Given the description of an element on the screen output the (x, y) to click on. 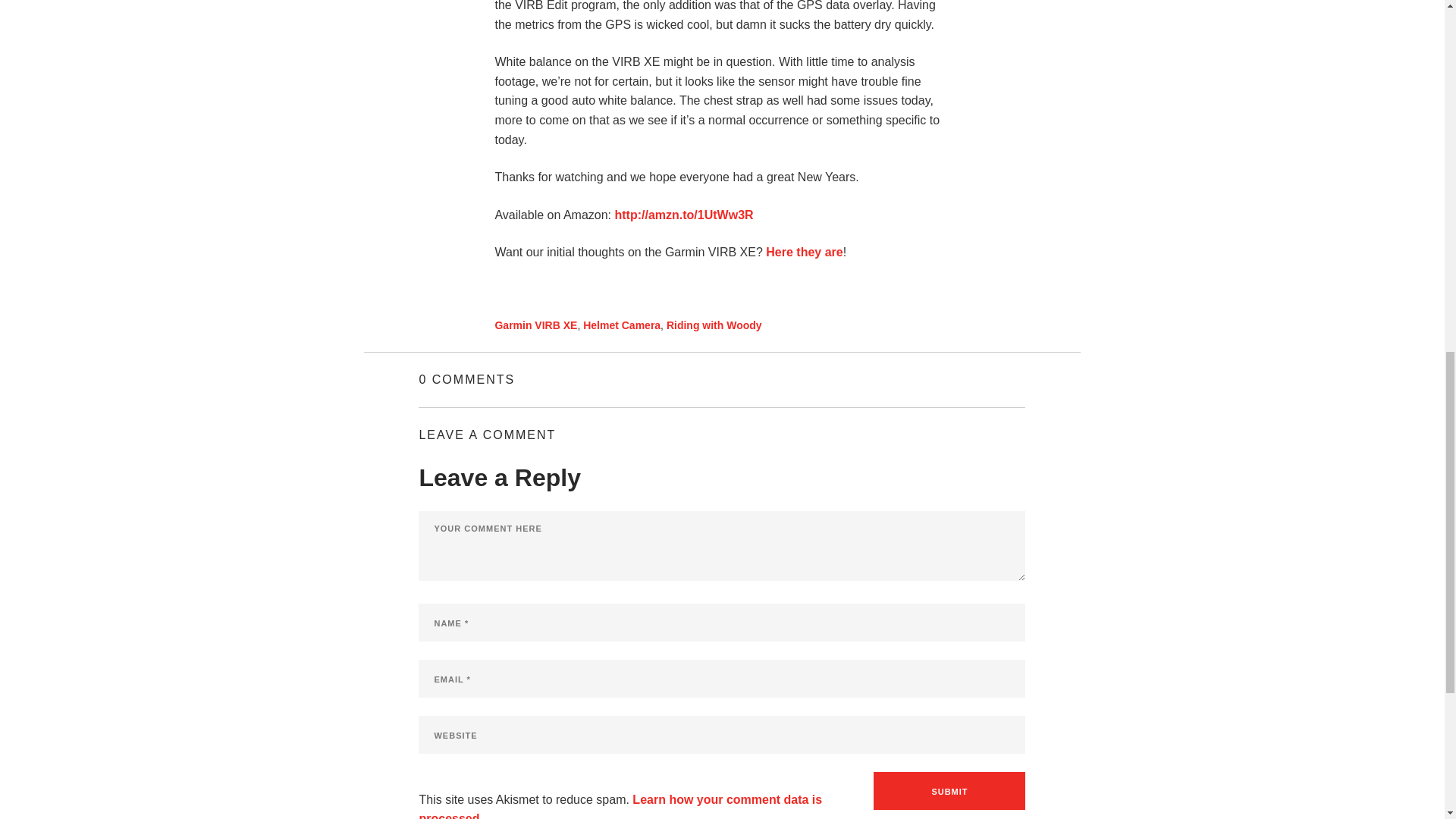
Here they are (804, 251)
Riding with Woody (713, 325)
Learn how your comment data is processed (620, 806)
Submit (949, 790)
Submit (949, 790)
Helmet Camera (622, 325)
Garmin VIRB XE (535, 325)
